Given the description of an element on the screen output the (x, y) to click on. 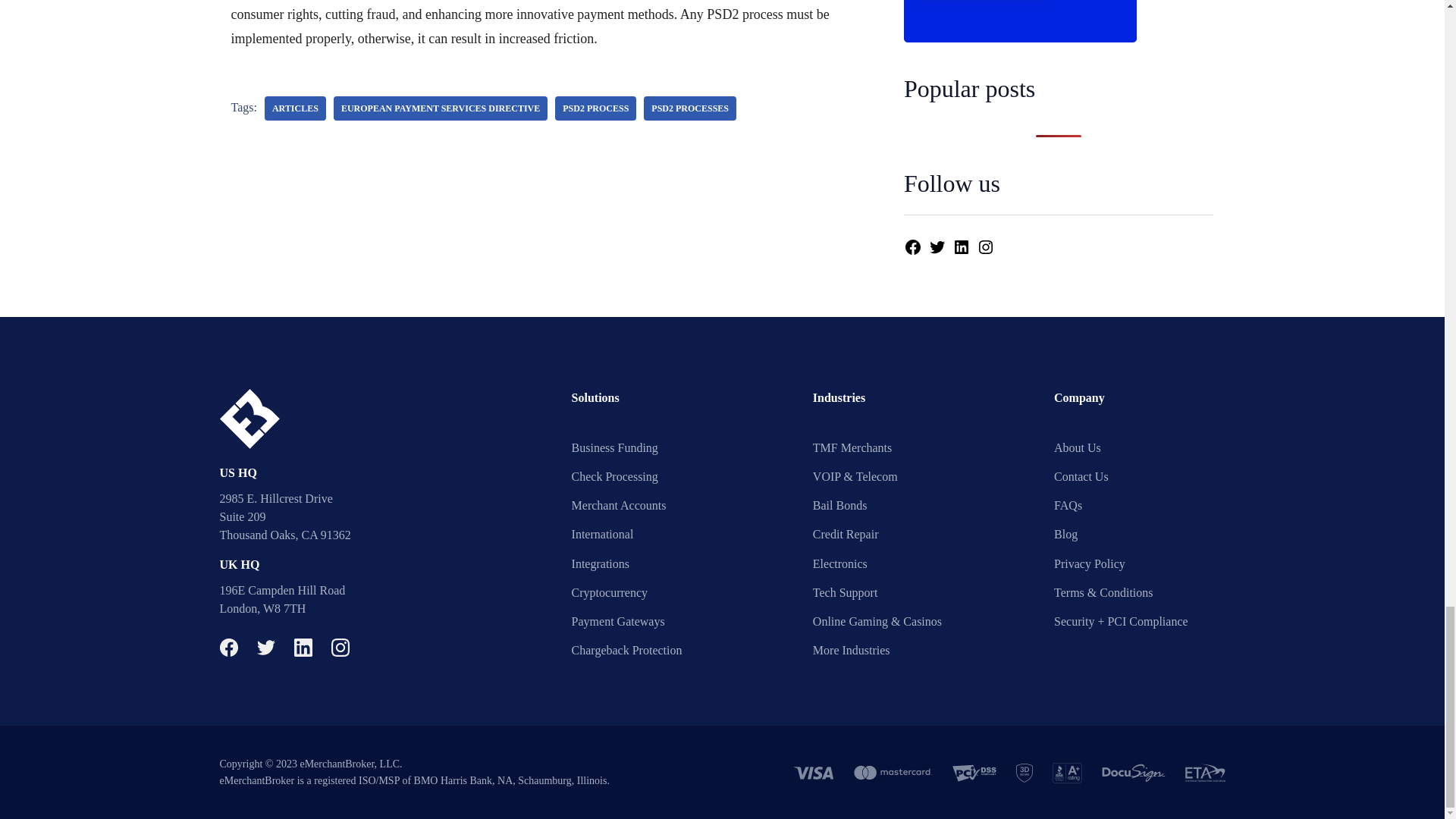
PSD2 Processes (689, 108)
European Payment Services Directive (440, 108)
PSD2 Process (595, 108)
Articles (295, 108)
